Given the description of an element on the screen output the (x, y) to click on. 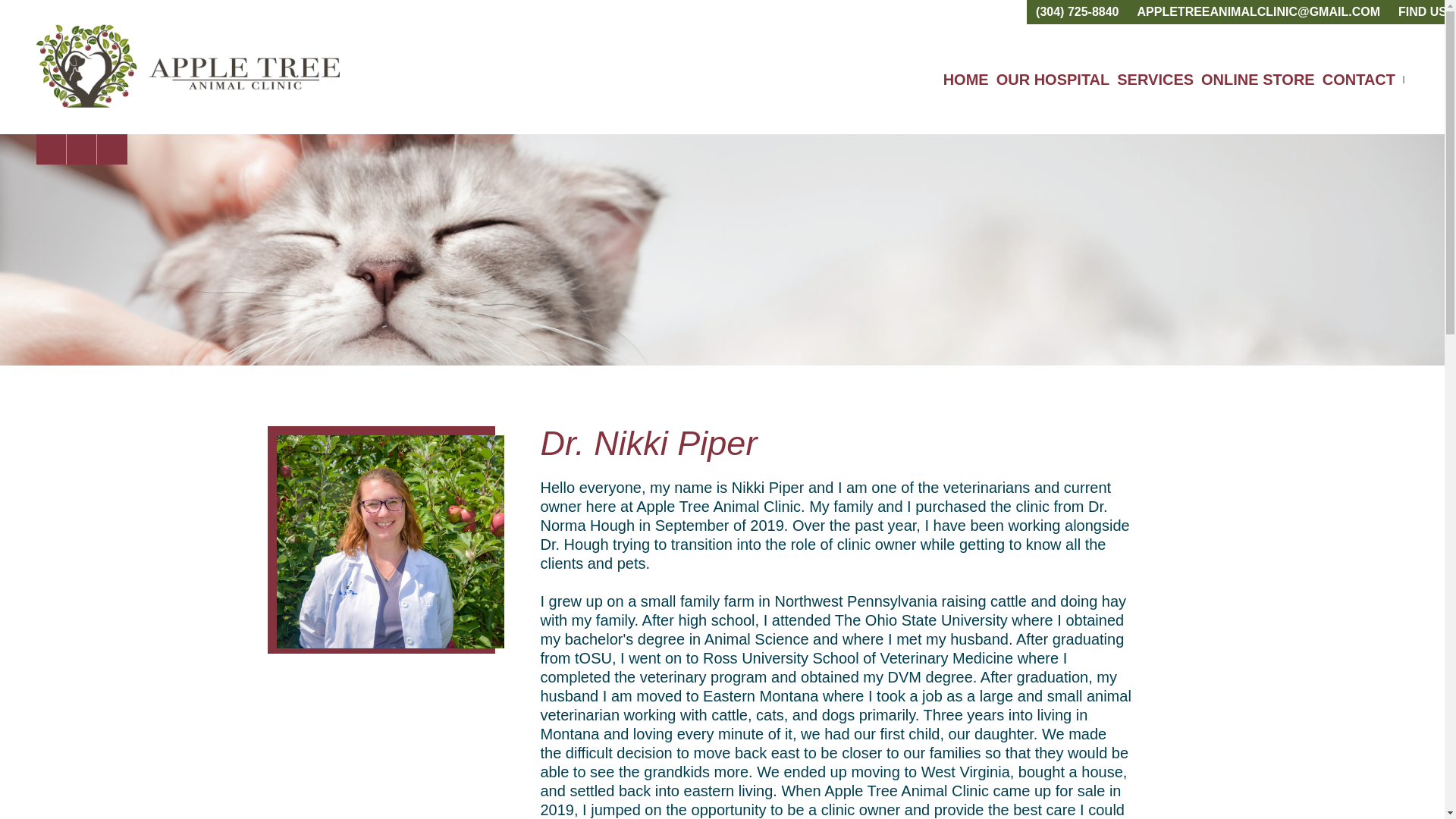
ONLINE STORE (1257, 79)
OUR HOSPITAL (1052, 79)
